Given the description of an element on the screen output the (x, y) to click on. 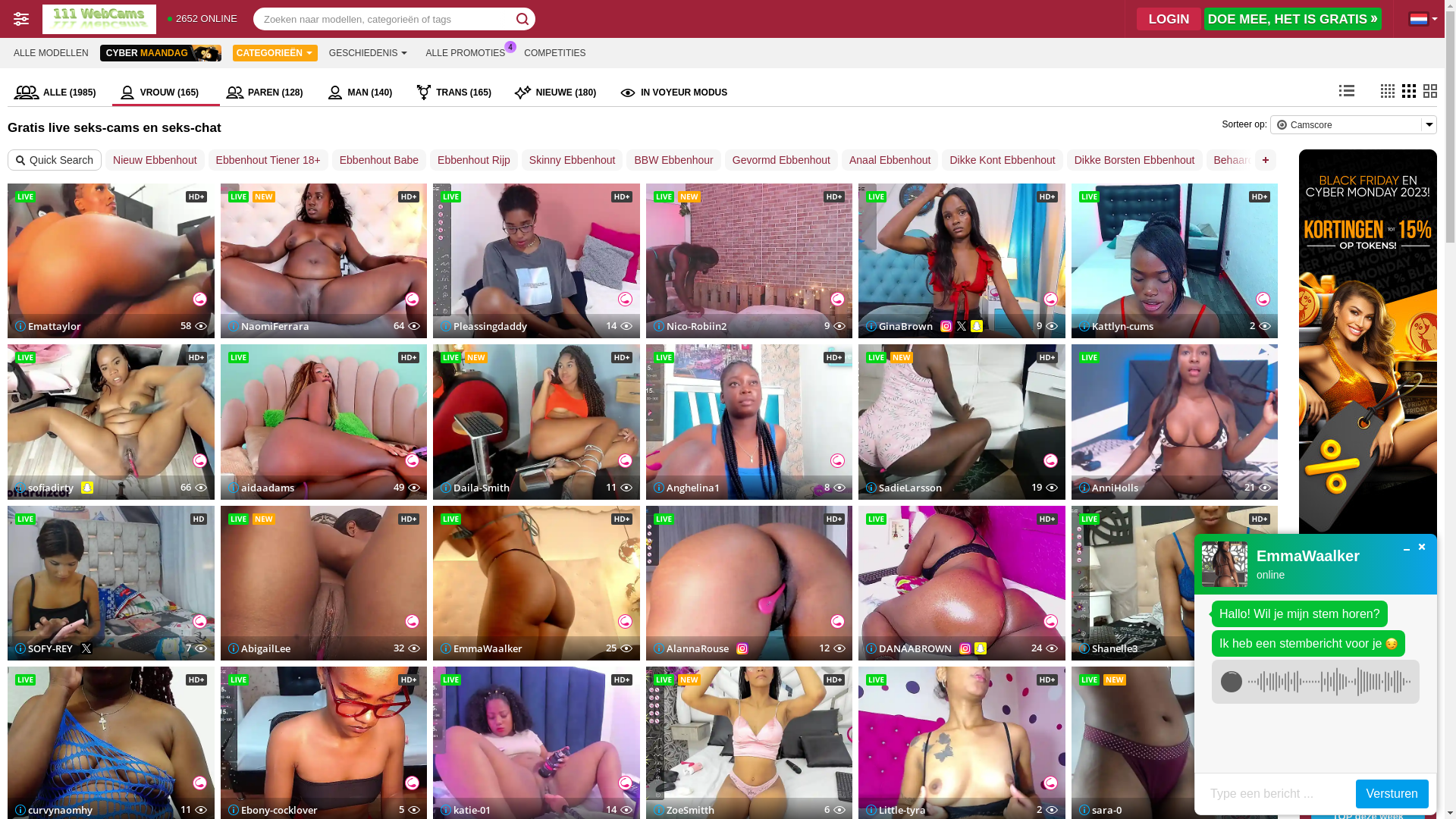
MAN (140) Element type: text (364, 92)
Nieuw Ebbenhout Element type: text (154, 159)
Shanelle3 Element type: text (1107, 648)
Pleassingdaddy Element type: text (483, 325)
AbigailLee Element type: text (258, 648)
GinaBrown Element type: text (899, 325)
DANAABROWN Element type: text (908, 648)
Ebony-cocklover Element type: text (271, 808)
AlannaRouse Element type: text (690, 648)
Behaard Kutje Ebbenhout Element type: text (1273, 159)
katie-01 Element type: text (465, 808)
PAREN (128) Element type: text (269, 92)
TRANS (165) Element type: text (458, 92)
Dikke Borsten Ebbenhout Element type: text (1134, 159)
Dikke Kont Ebbenhout Element type: text (1001, 159)
Gevormd Ebbenhout Element type: text (780, 159)
Ebbenhout Rijp Element type: text (473, 159)
EmmaWaalker Element type: text (481, 648)
ALLE PROMOTIES Element type: text (465, 52)
ZoeSmitth Element type: text (683, 808)
BBW Ebbenhour Element type: text (673, 159)
Anghelina1 Element type: text (686, 487)
COMPETITIES Element type: text (554, 52)
SOFY-REY Element type: text (43, 648)
sara-0 Element type: text (1099, 808)
SadieLarsson Element type: text (903, 487)
Versturen Element type: text (1391, 793)
Emattaylor Element type: text (48, 325)
ALLE MODELLEN Element type: text (51, 52)
Ebbenhout Babe Element type: text (379, 159)
NIEUWE (180) Element type: text (560, 92)
FurElisse Element type: text (1367, 726)
CYBER MAANDAG Element type: text (160, 52)
Nico-Robiin2 Element type: text (689, 325)
Daila-Smith Element type: text (474, 487)
VROUW (165) Element type: text (165, 92)
ALLE (1985) Element type: text (59, 92)
Anaal Ebbenhout Element type: text (889, 159)
AnniHolls Element type: text (1107, 487)
curvynaomhy Element type: text (53, 808)
aidaadams Element type: text (260, 487)
LOGIN Element type: text (1168, 18)
Skinny Ebbenhout Element type: text (572, 159)
IN VOYEUR MODUS Element type: text (672, 92)
sofiadirty Element type: text (44, 487)
NaomiFerrara Element type: text (267, 325)
Ebbenhout Tiener 18+ Element type: text (268, 159)
Little-tyra Element type: text (895, 808)
DOE MEE, HET IS GRATIS Element type: text (1292, 18)
Kattlyn-cums Element type: text (1115, 325)
